Given the description of an element on the screen output the (x, y) to click on. 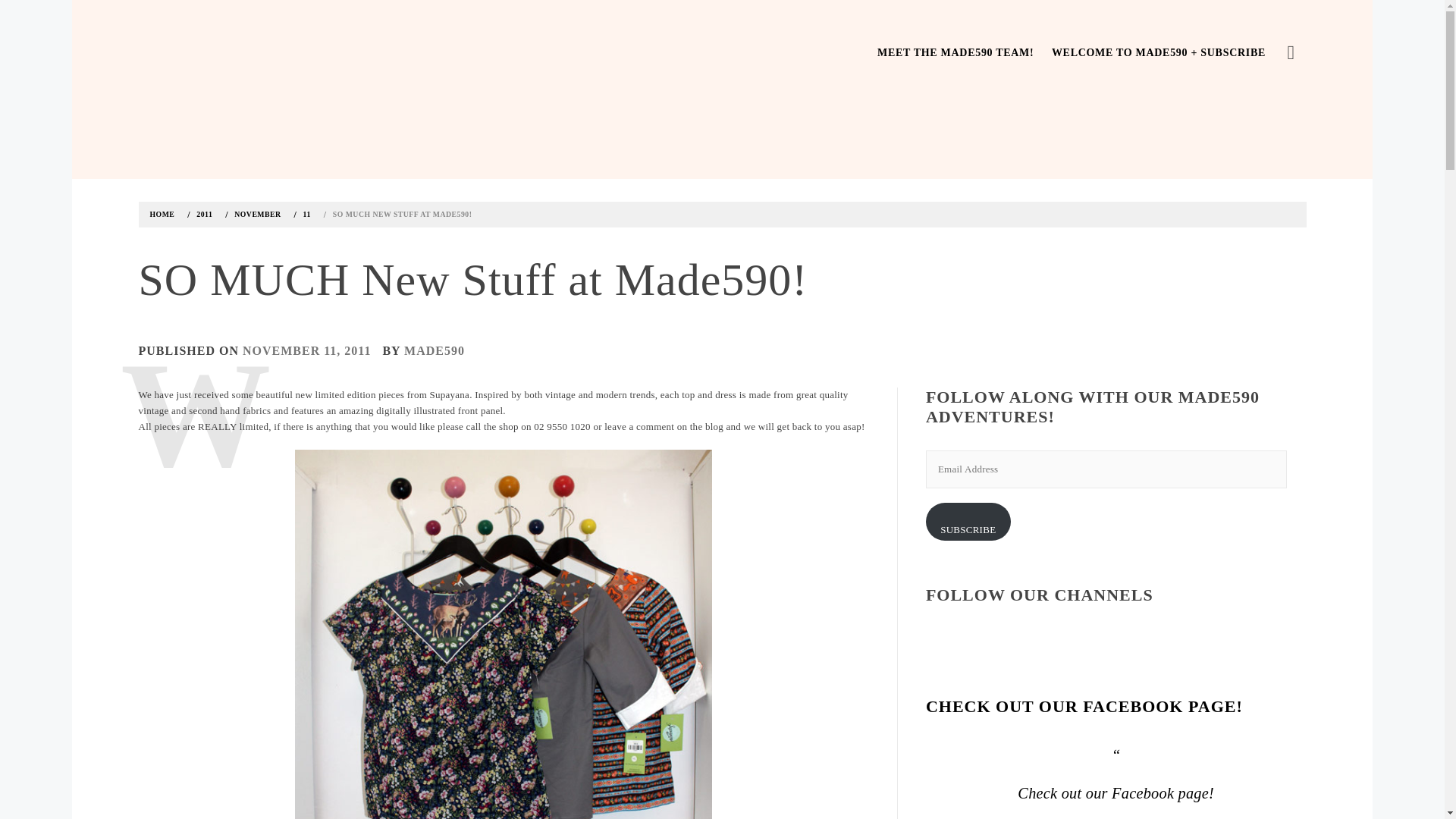
NOVEMBER 11, 2011 (307, 350)
MADE590: LOCALLY MADE, SIZE INCLUSIVE CLOTHING (135, 139)
11 (304, 213)
MADE590 (434, 350)
HOME (164, 213)
2011 (201, 213)
MEET THE MADE590 TEAM! (955, 53)
Search (646, 37)
Instagram (938, 639)
